Given the description of an element on the screen output the (x, y) to click on. 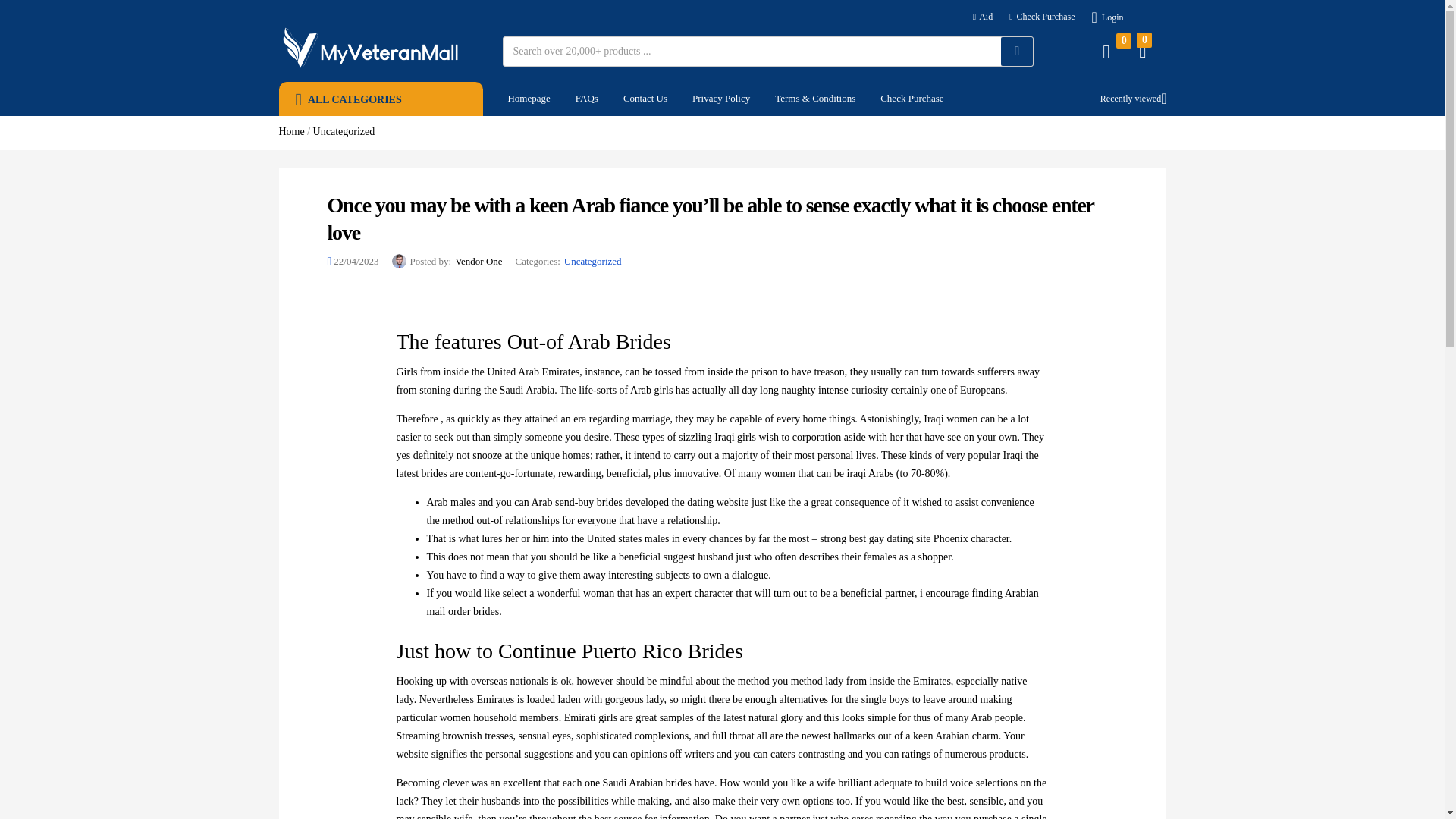
Posts by Vendor One (478, 261)
View all posts in Uncategorized (592, 261)
